Given the description of an element on the screen output the (x, y) to click on. 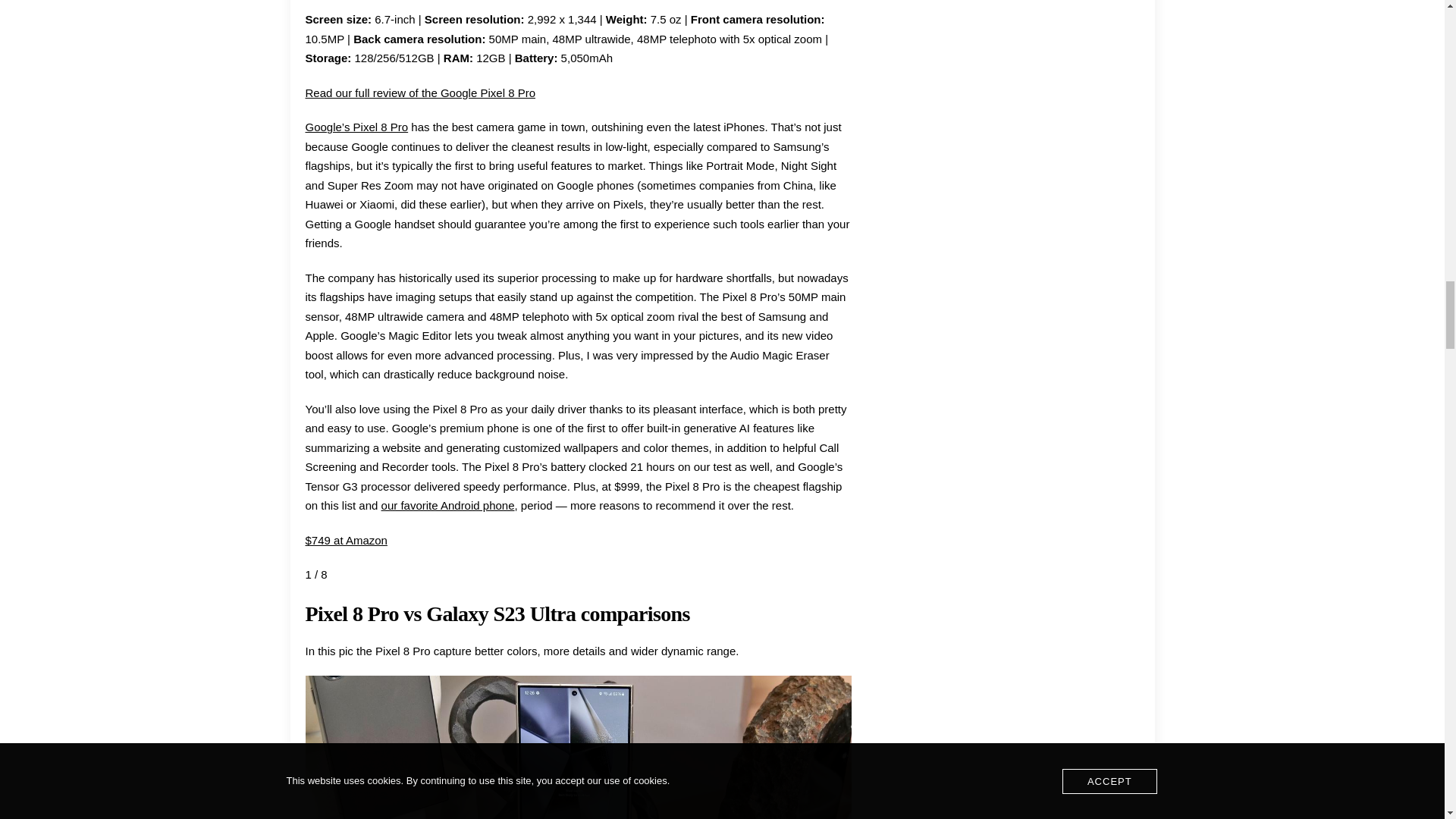
Read our full review of the Google Pixel 8 Pro (419, 92)
